Given the description of an element on the screen output the (x, y) to click on. 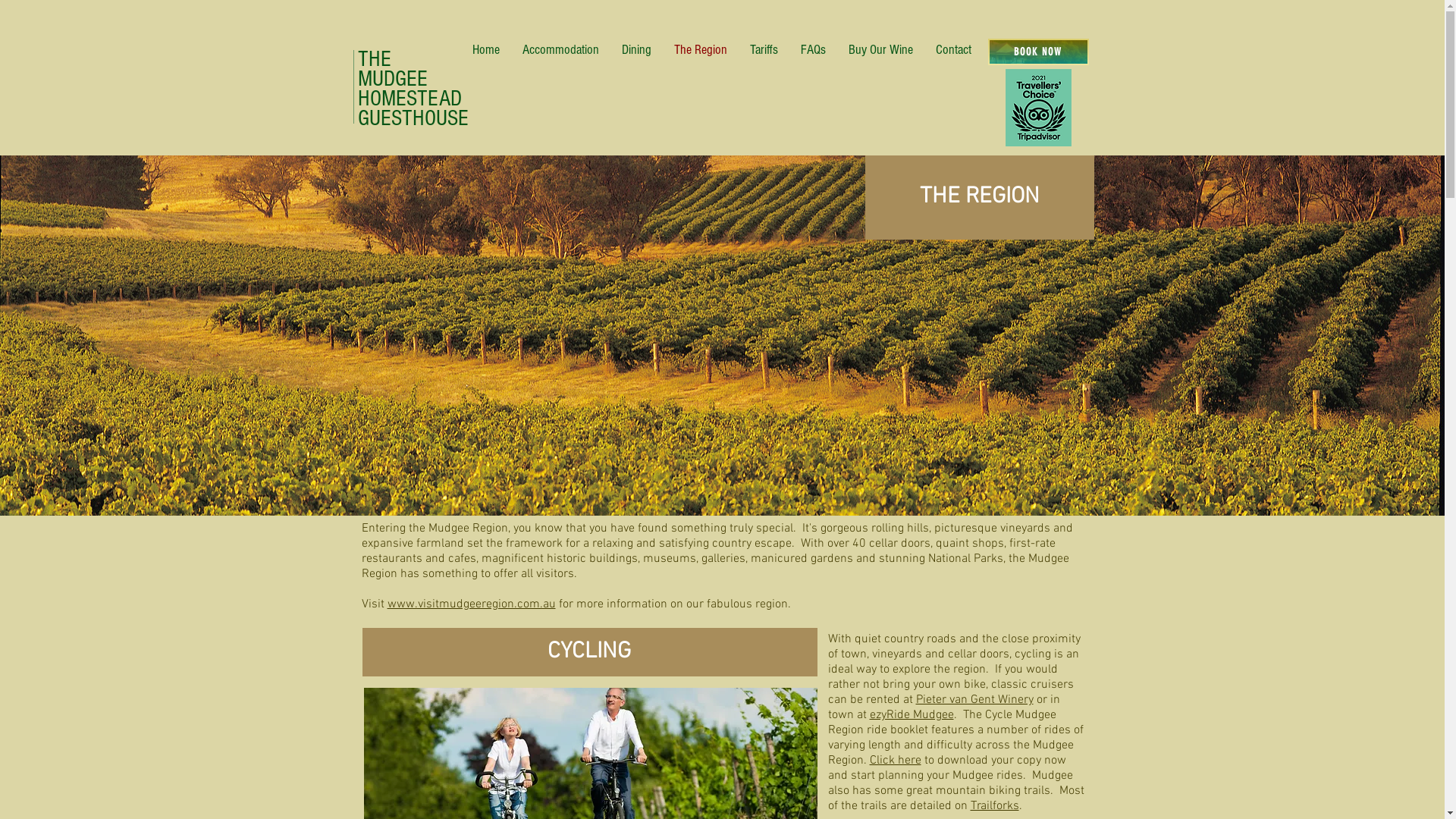
Pieter van Gent Winery Element type: text (974, 699)
The Region Element type: text (700, 49)
Home Element type: text (486, 49)
Contact Element type: text (953, 49)
FAQs Element type: text (813, 49)
Instagram Feeds Element type: hover (722, 96)
Dining Element type: text (636, 49)
Click here Element type: text (894, 760)
Trailforks Element type: text (994, 805)
www.visitmudgeeregion.com.au Element type: text (470, 603)
Buy Our Wine Element type: text (880, 49)
ezyRide Mudgee Element type: text (911, 714)
THE
MUDGEE
HOMESTEAD
GUESTHOUSE Element type: text (412, 88)
Tariffs Element type: text (763, 49)
BOOK NOW Element type: text (1037, 51)
